Given the description of an element on the screen output the (x, y) to click on. 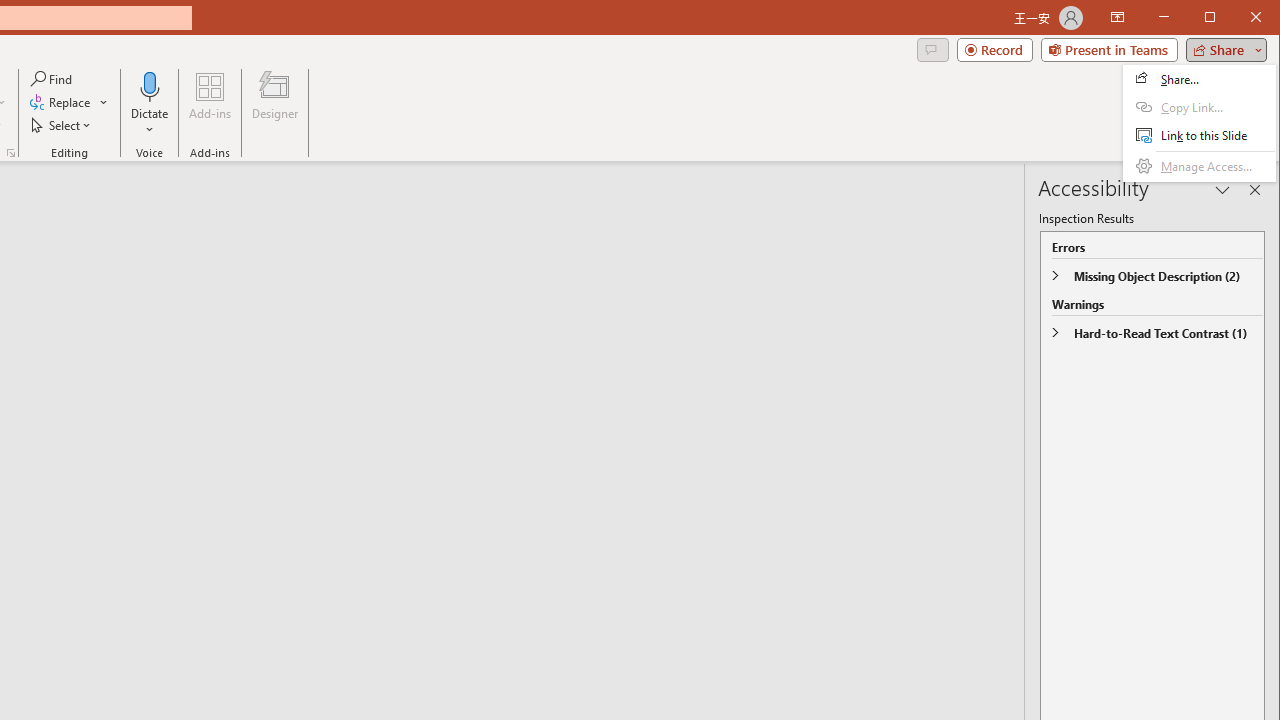
Select (62, 124)
Find... (52, 78)
